Given the description of an element on the screen output the (x, y) to click on. 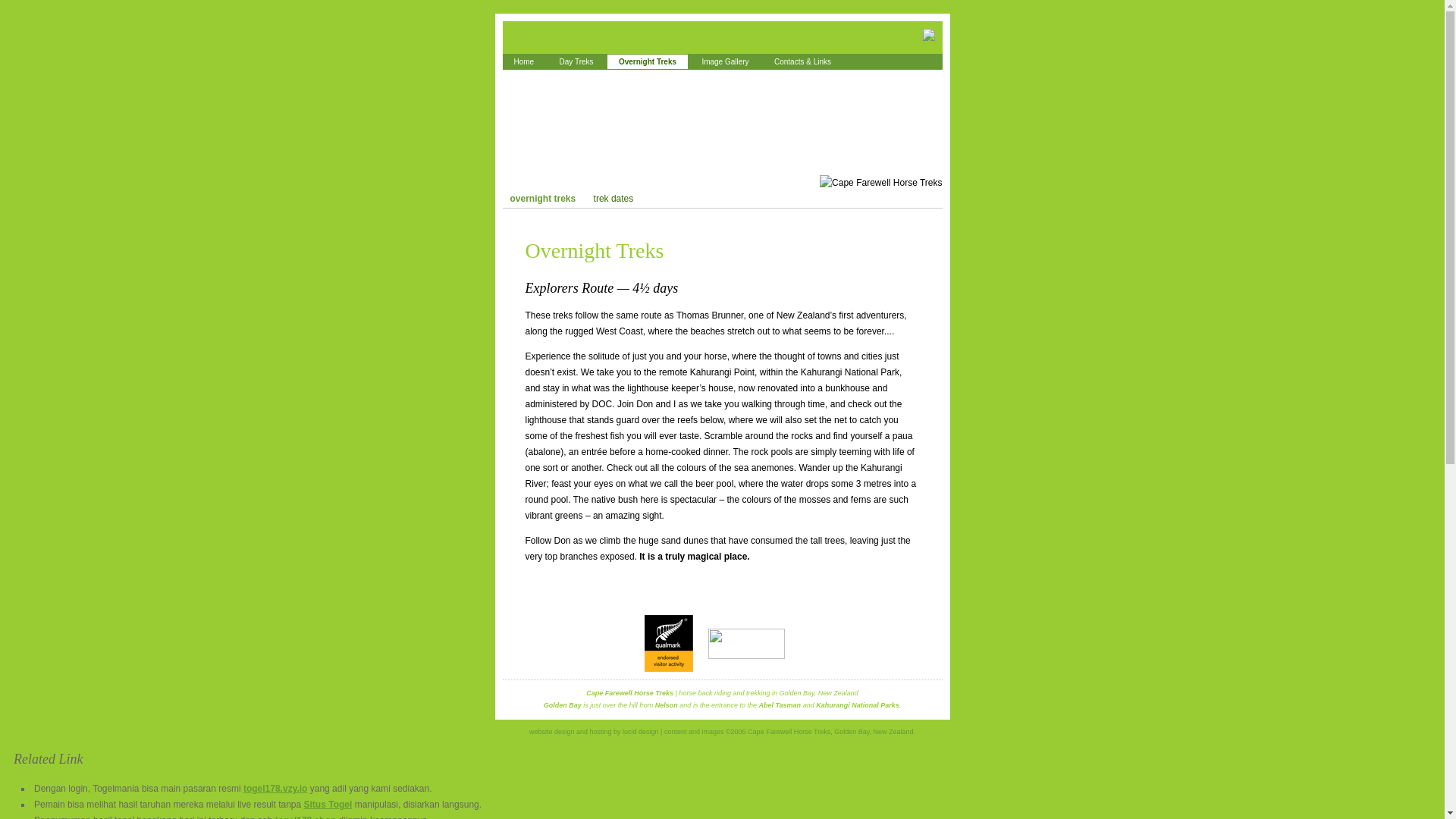
overnight treks (542, 198)
togel178.vzy.io (275, 787)
trek dates (614, 198)
Image Gallery (725, 61)
Day Treks (576, 61)
togel178.shop (305, 816)
Situs Togel (328, 804)
Overnight Treks (647, 61)
Home (523, 61)
